Given the description of an element on the screen output the (x, y) to click on. 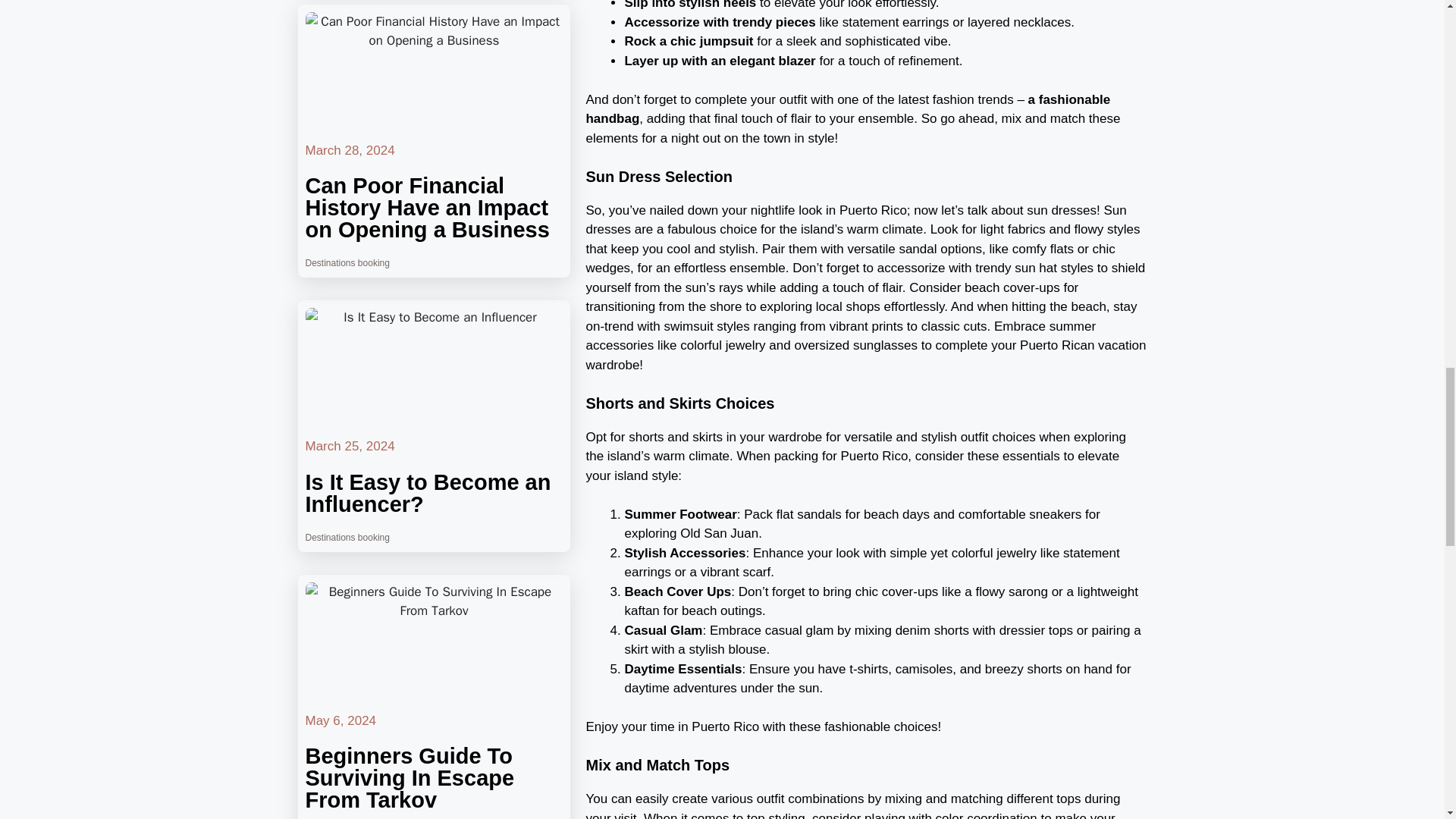
Beginners Guide To Surviving In Escape From Tarkov (408, 777)
Is It Easy to Become an Influencer? (427, 493)
Destinations booking (346, 537)
Destinations booking (346, 262)
